Given the description of an element on the screen output the (x, y) to click on. 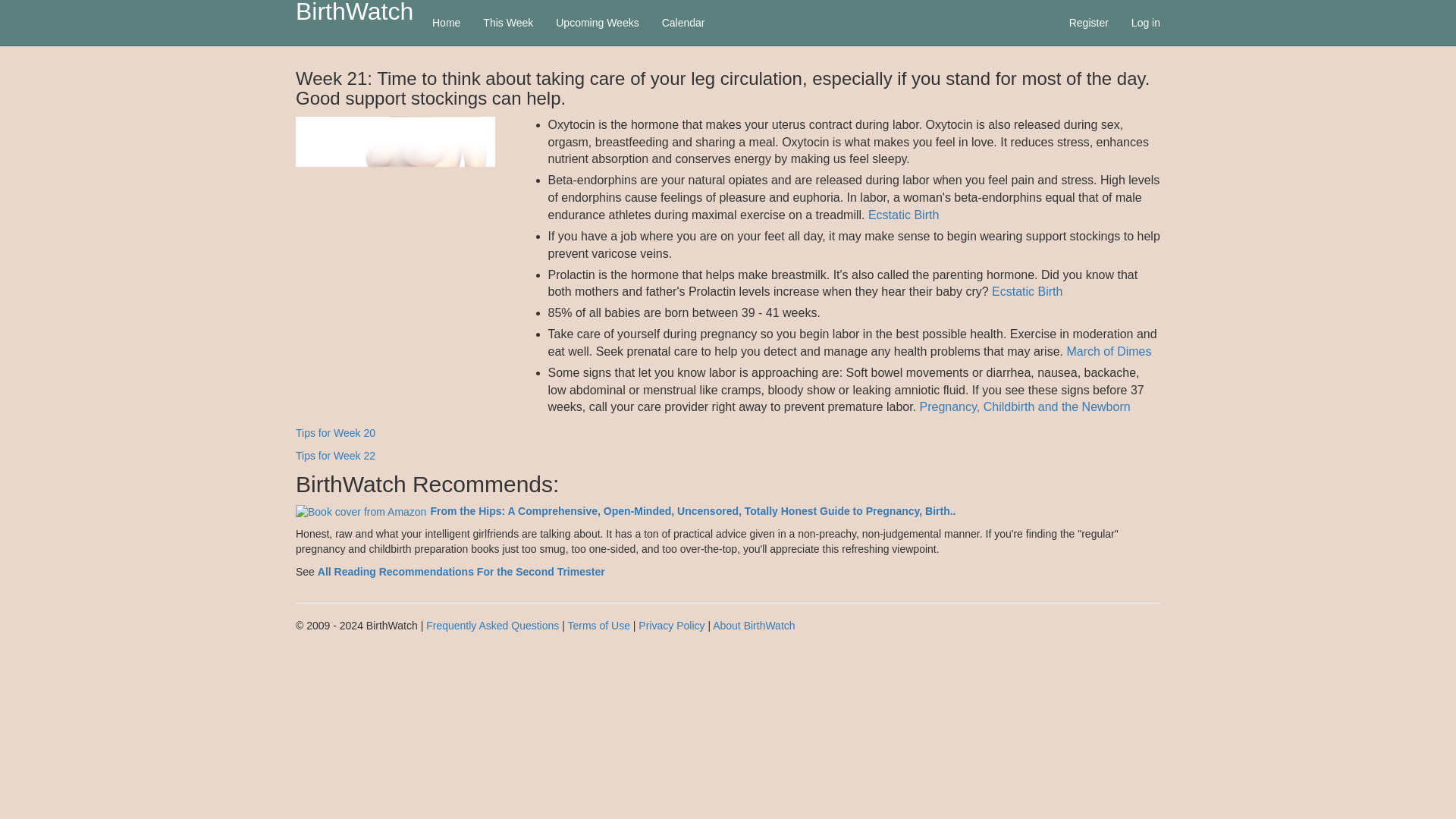
Terms of Use (597, 625)
All Reading Recommendations For the Second Trimester (461, 571)
About BirthWatch (753, 625)
Pregnancy, Childbirth and the Newborn (1025, 406)
Home (445, 22)
Privacy Policy (671, 625)
Frequently Asked Questions (492, 625)
Register (1088, 22)
This Week (507, 22)
Upcoming Weeks (596, 22)
Tips for Week 22 (335, 455)
Ecstatic Birth (903, 214)
Tips for Week 20 (335, 432)
Log in (1145, 22)
